Given the description of an element on the screen output the (x, y) to click on. 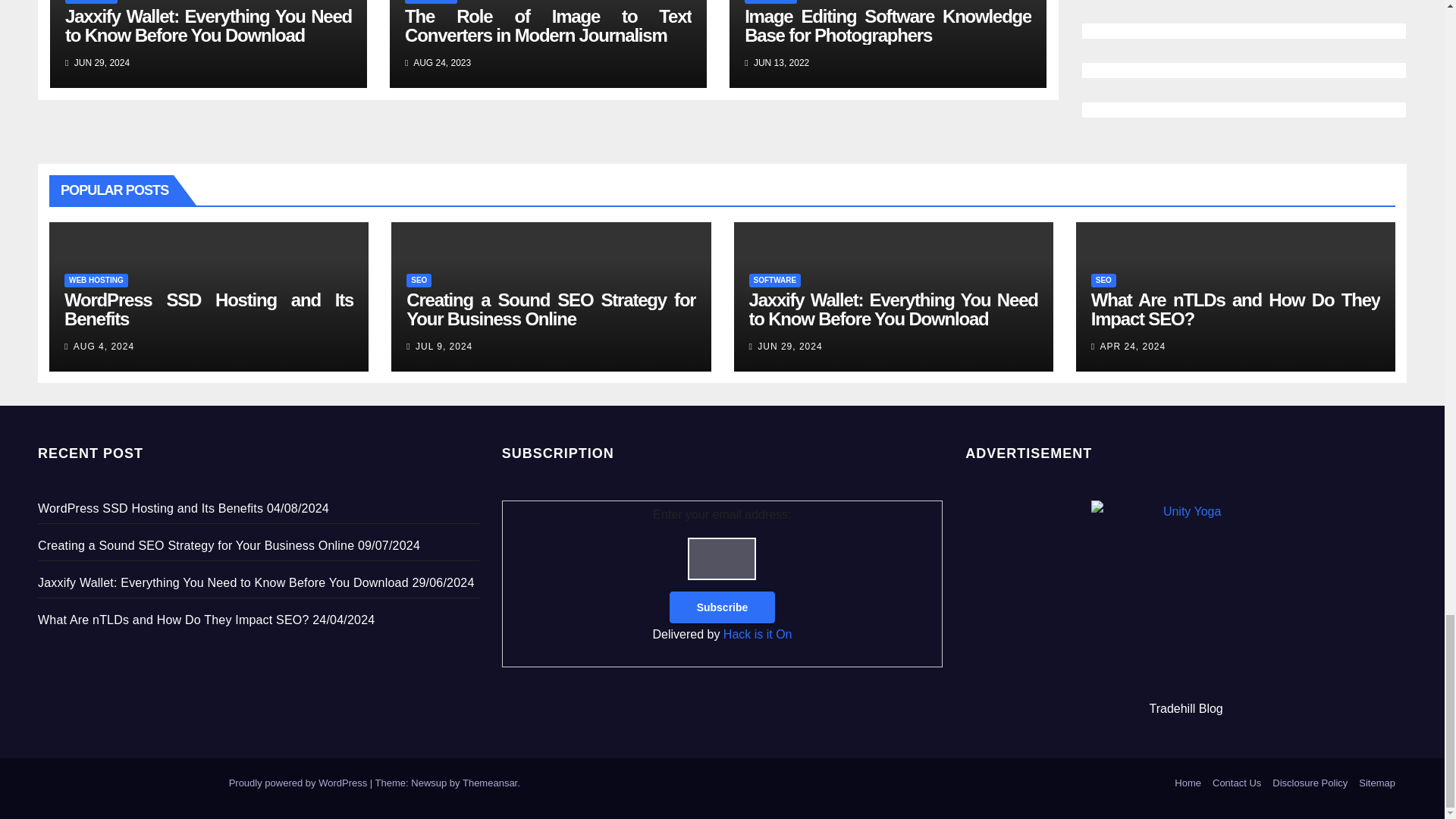
SOFTWARE (91, 2)
The Role of Image to Text Converters in Modern Journalism (547, 25)
Image Editing Software Knowledge Base for Photographers (887, 25)
SOFTWARE (430, 2)
Subscribe (722, 607)
SOFTWARE (770, 2)
